Given the description of an element on the screen output the (x, y) to click on. 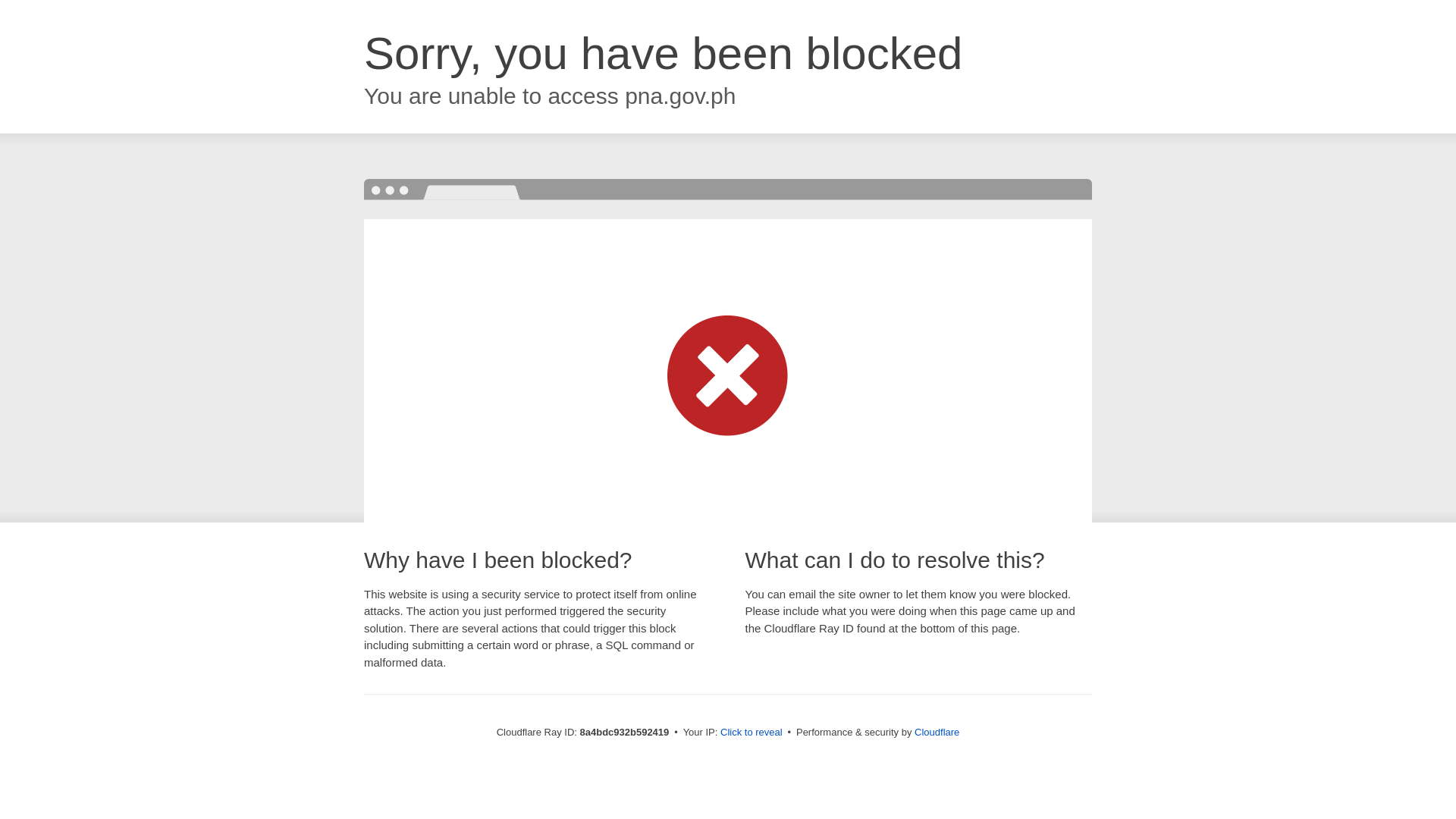
Click to reveal (751, 732)
Cloudflare (936, 731)
